Given the description of an element on the screen output the (x, y) to click on. 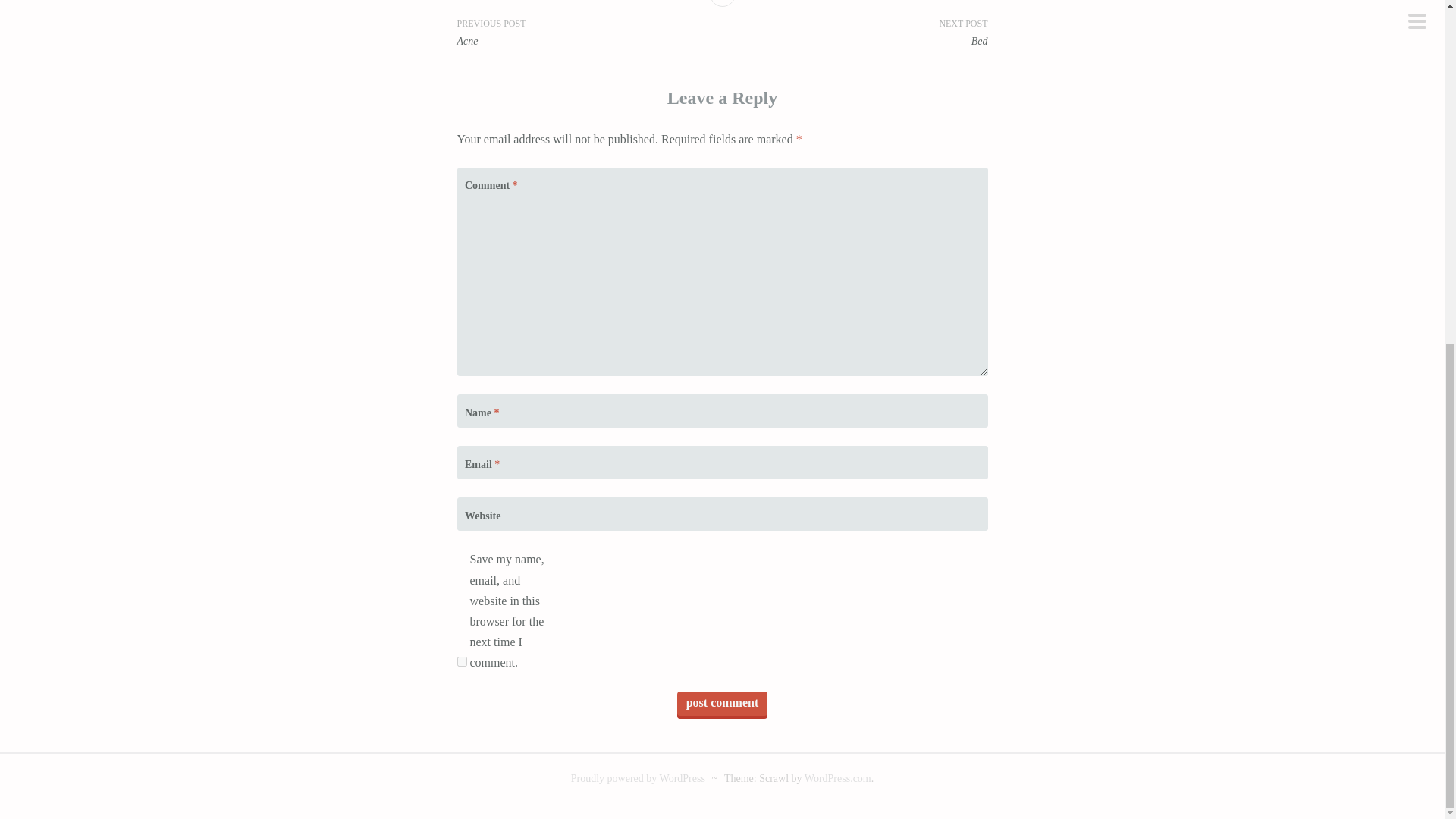
Post Comment (722, 703)
Post Comment (722, 703)
Proudly powered by WordPress (637, 778)
PREVIOUS POSTAcne (589, 31)
WordPress.com (837, 778)
yes (461, 661)
0 (722, 3)
NEXT POSTBed (854, 31)
